Given the description of an element on the screen output the (x, y) to click on. 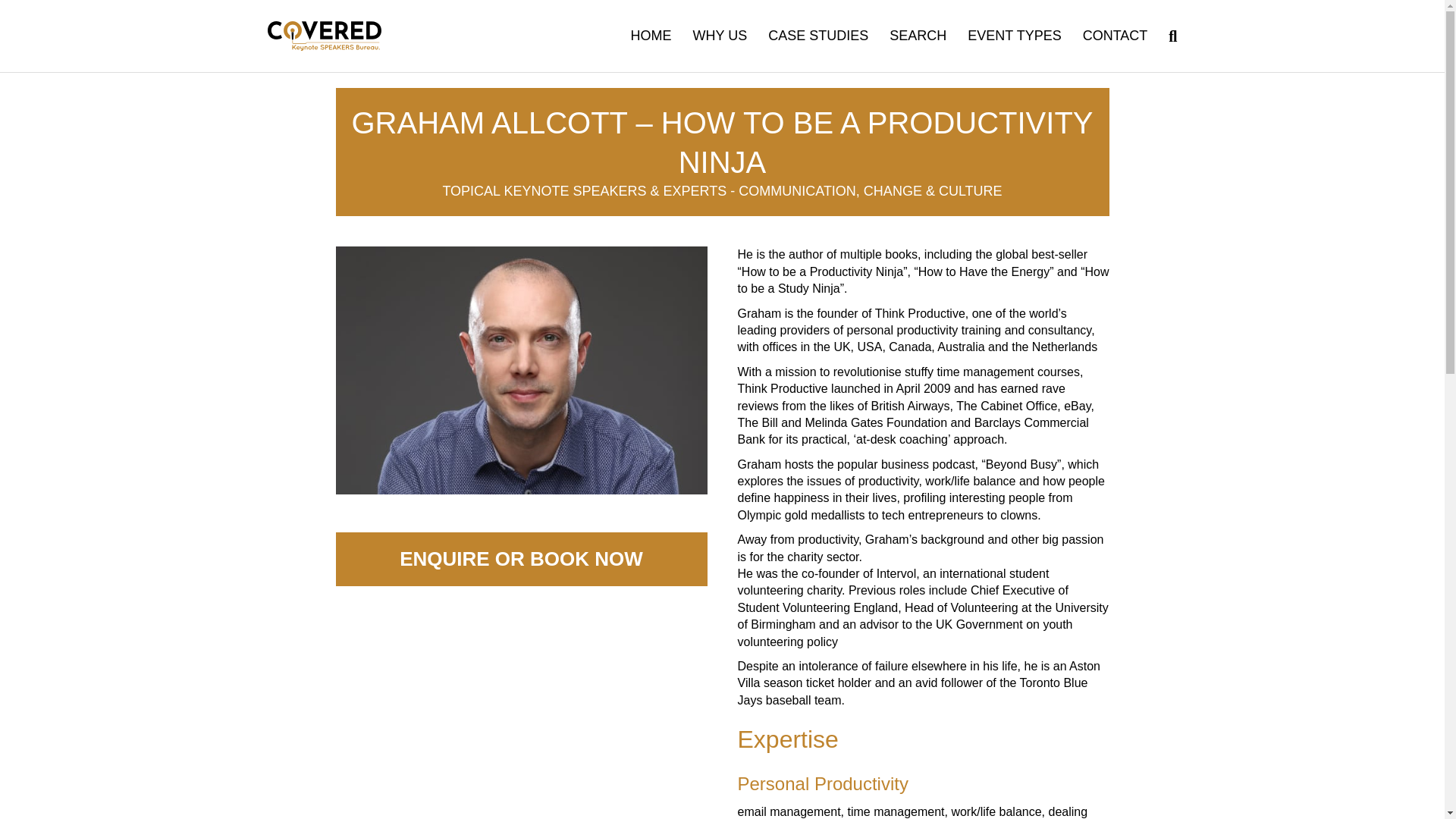
Graham Allcott (520, 370)
